Given the description of an element on the screen output the (x, y) to click on. 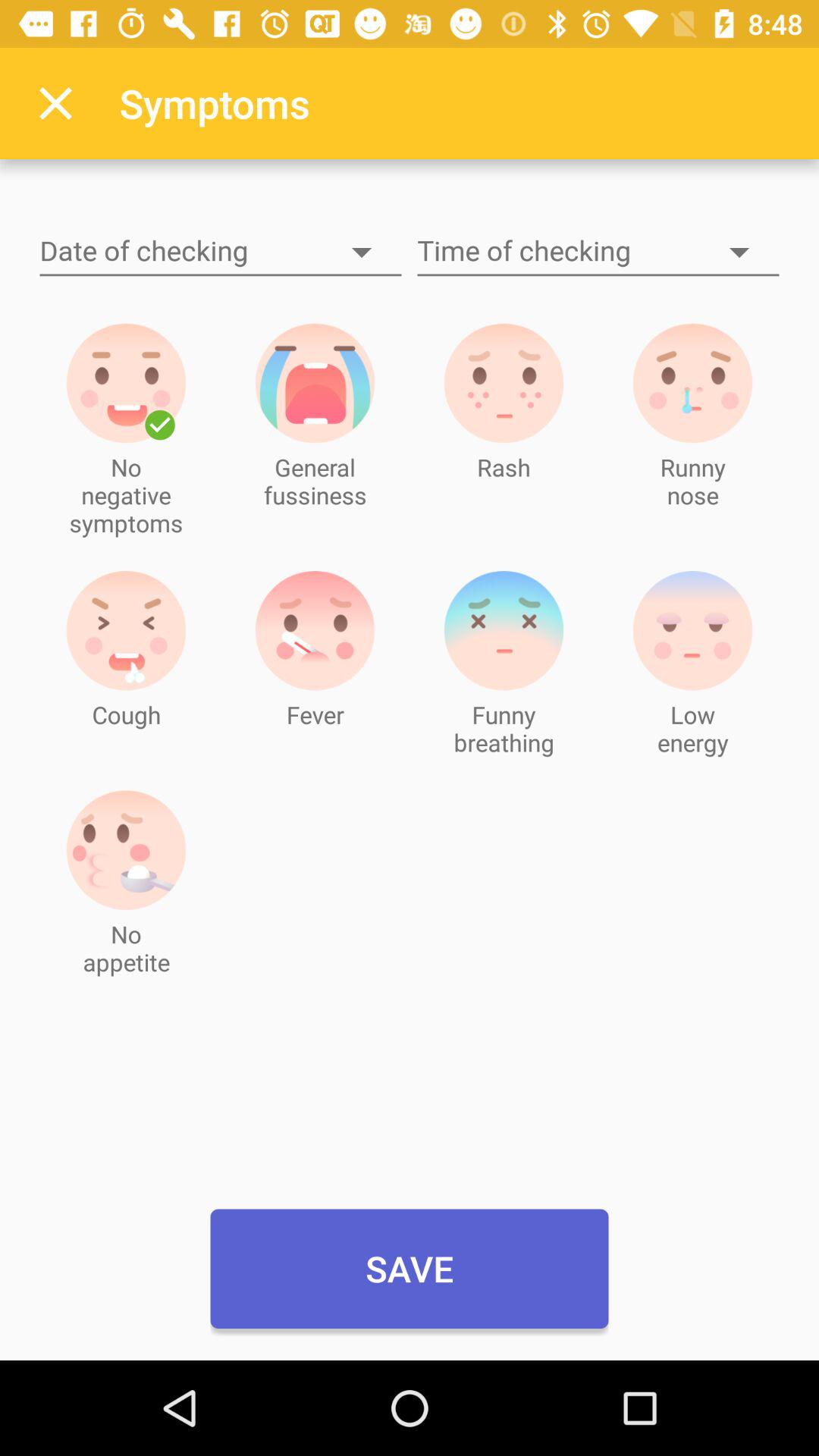
enter date of checking (220, 251)
